Given the description of an element on the screen output the (x, y) to click on. 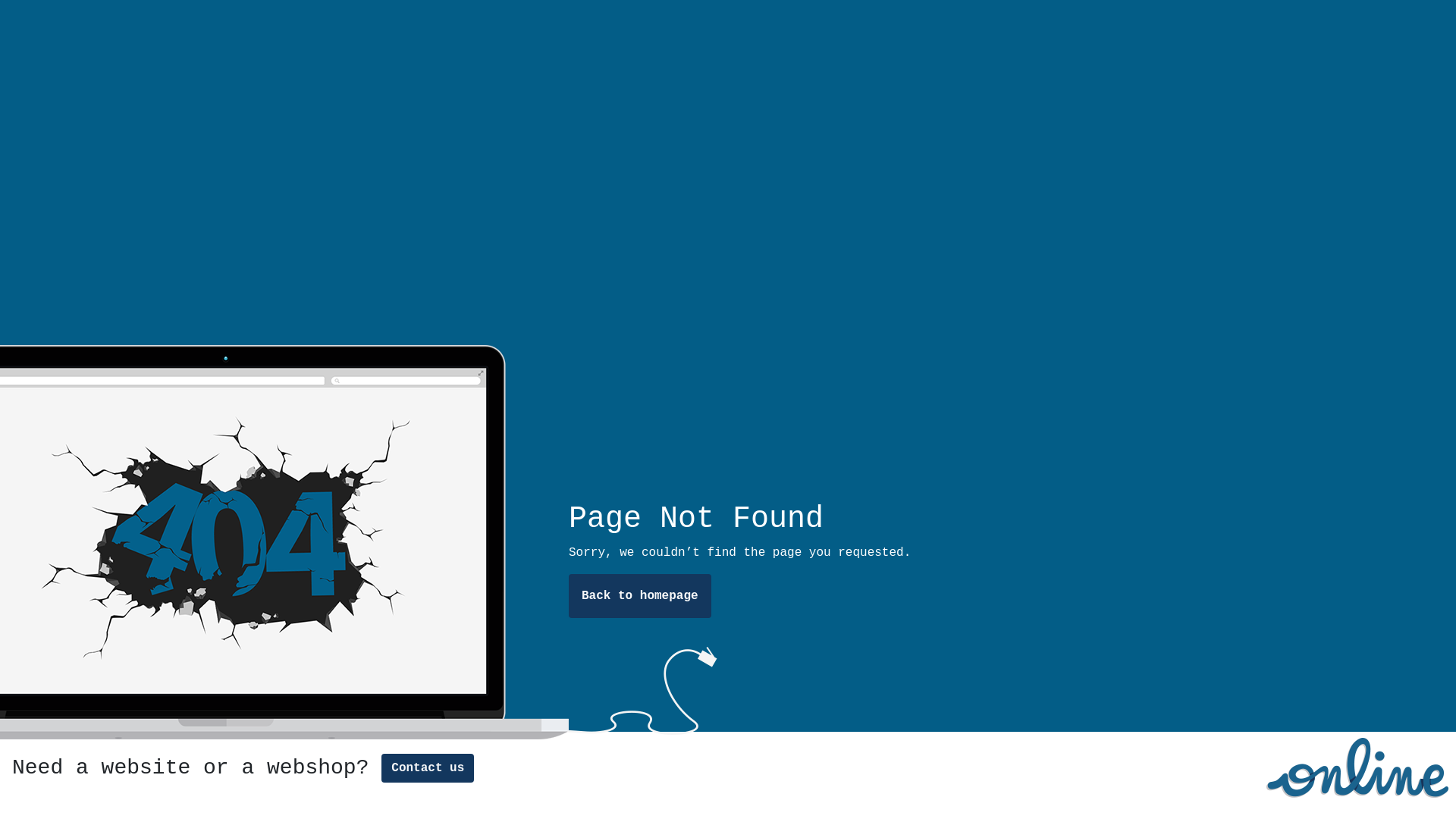
Back to homepage Element type: text (639, 596)
Contact us Element type: text (427, 767)
